Given the description of an element on the screen output the (x, y) to click on. 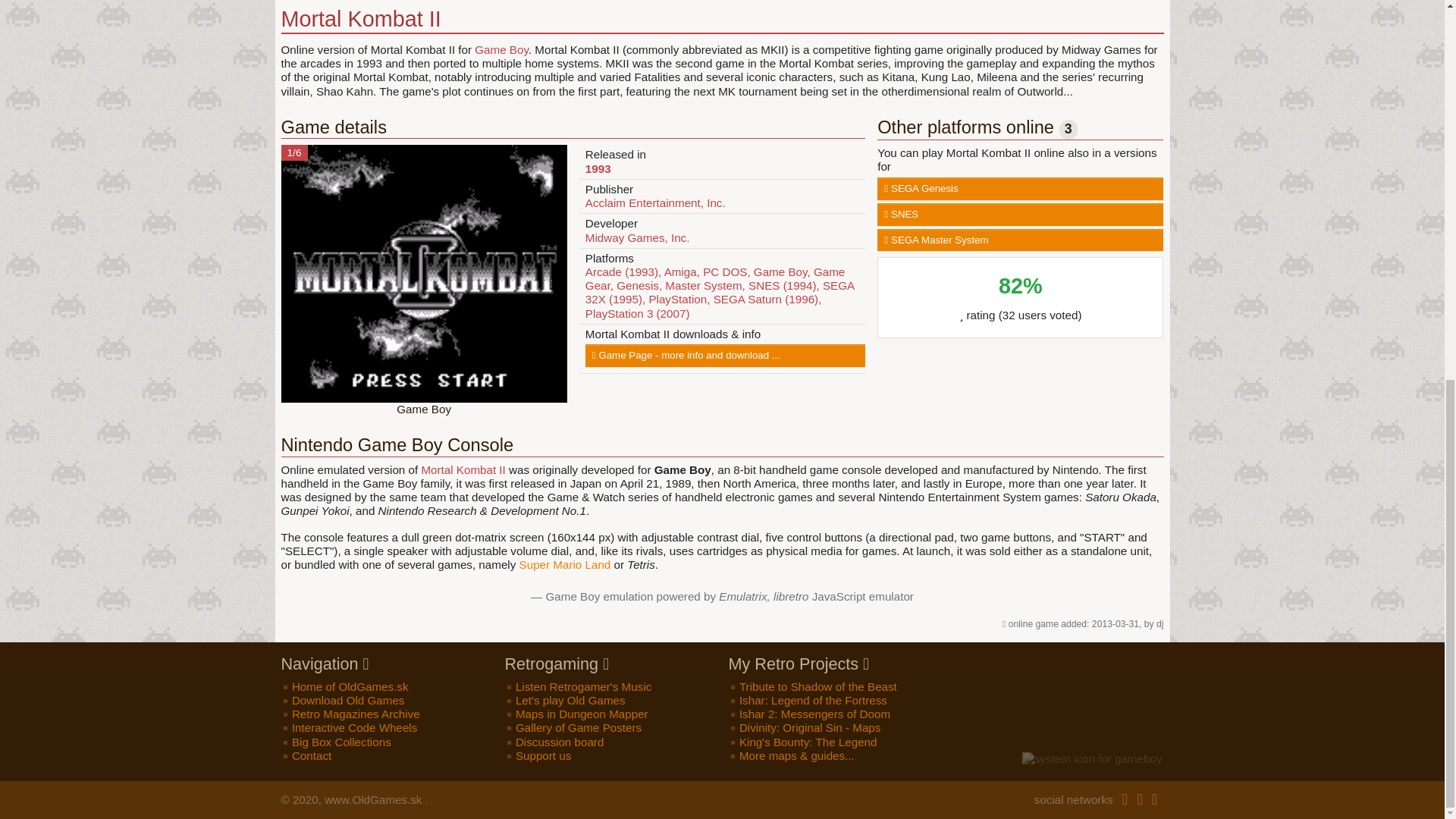
Play online Mortal Kombat II for SNES (1020, 214)
Play online Mortal Kombat II for SEGA Master System (1020, 240)
Play online Mortal Kombat II for SEGA Genesis (1020, 188)
Javascript emulator (763, 595)
